Given the description of an element on the screen output the (x, y) to click on. 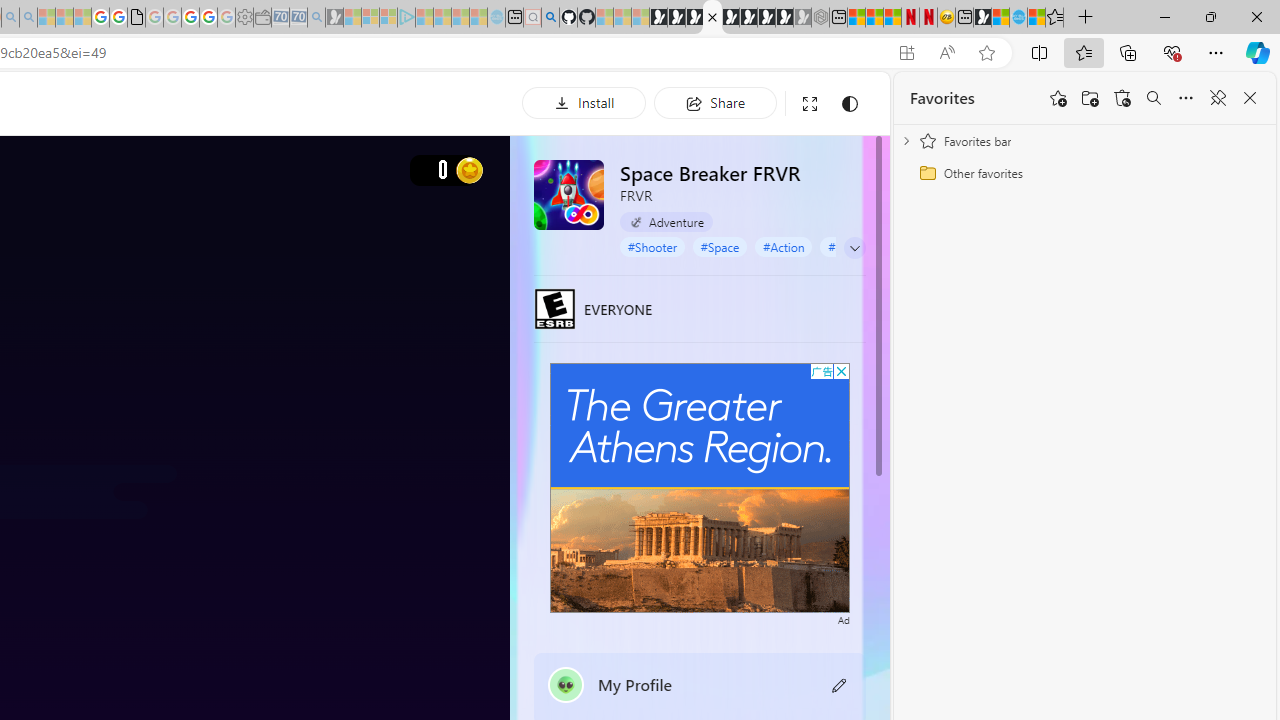
AutomationID: cbb (841, 371)
Advertisement (699, 487)
Advertisement (699, 487)
Adventure (665, 222)
Adventure (665, 221)
Add this page to favorites (1058, 98)
